Given the description of an element on the screen output the (x, y) to click on. 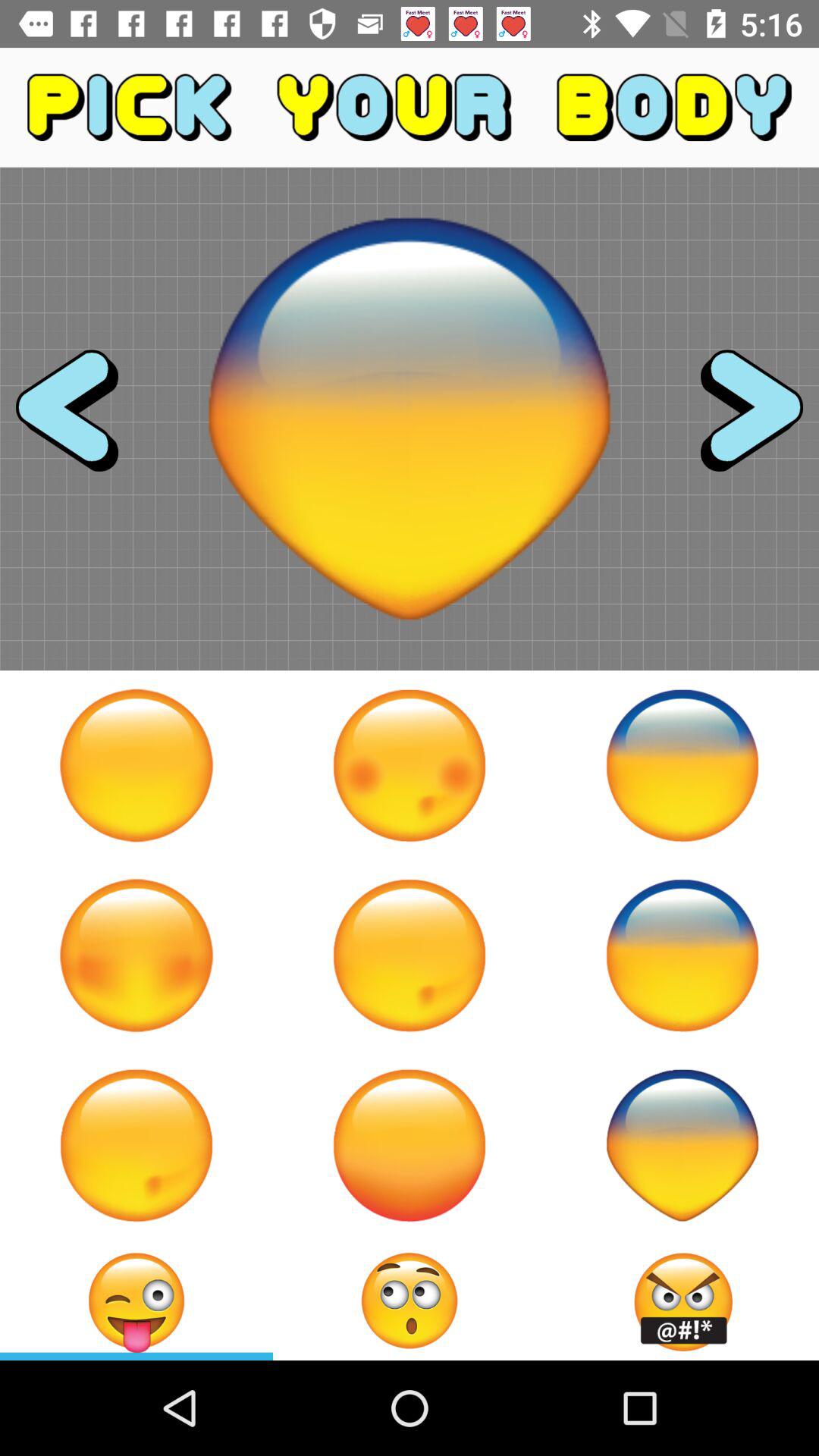
select emoji (136, 765)
